Given the description of an element on the screen output the (x, y) to click on. 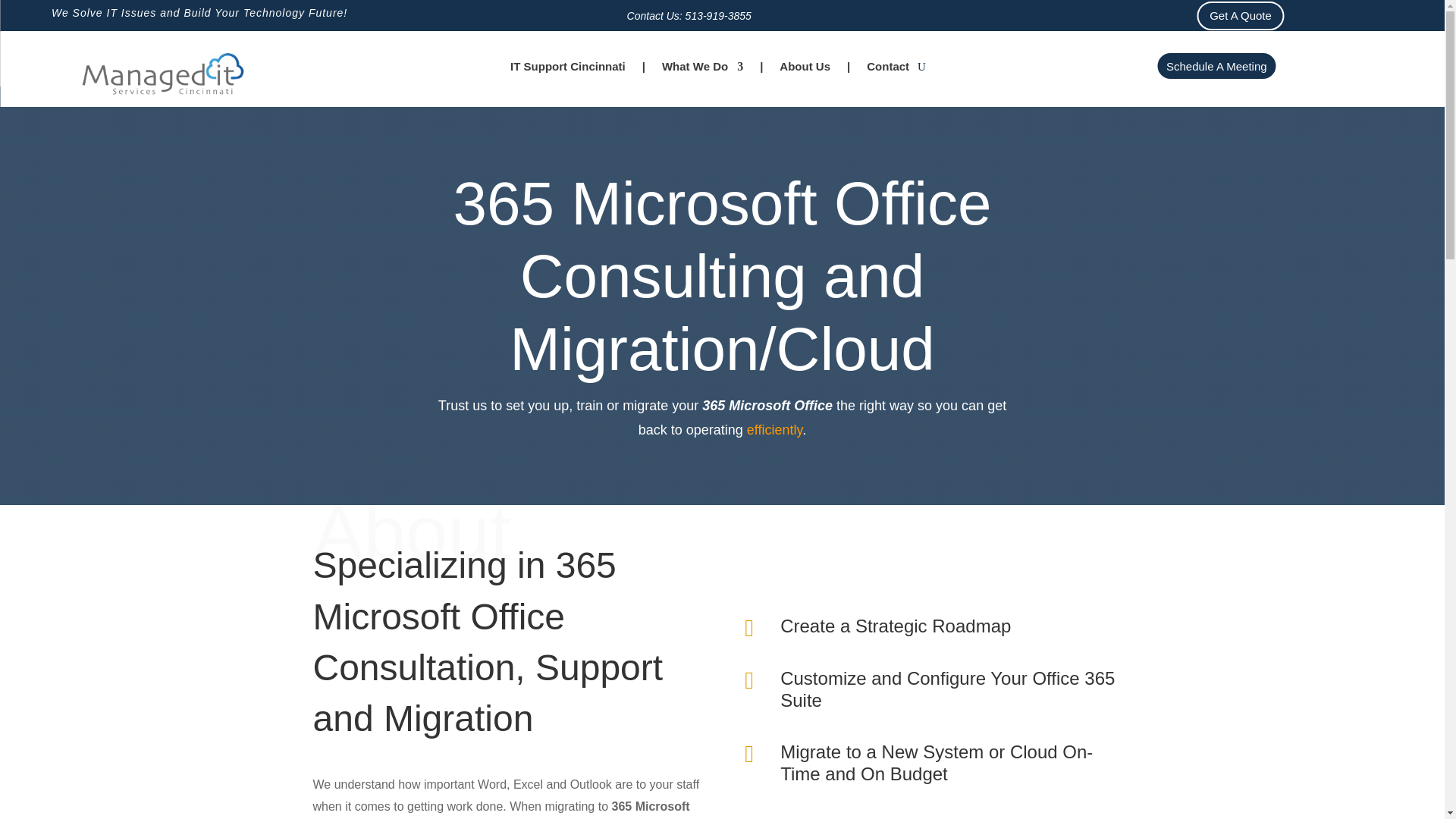
Schedule A Meeting (1217, 65)
Contact (887, 69)
What We Do (702, 69)
Get A Quote (1240, 15)
Contact Us: 513-919-3855 (689, 15)
About Us (803, 69)
Managed-IT-Logo-With-Cloud (165, 75)
IT Support Cincinnati (568, 69)
